Given the description of an element on the screen output the (x, y) to click on. 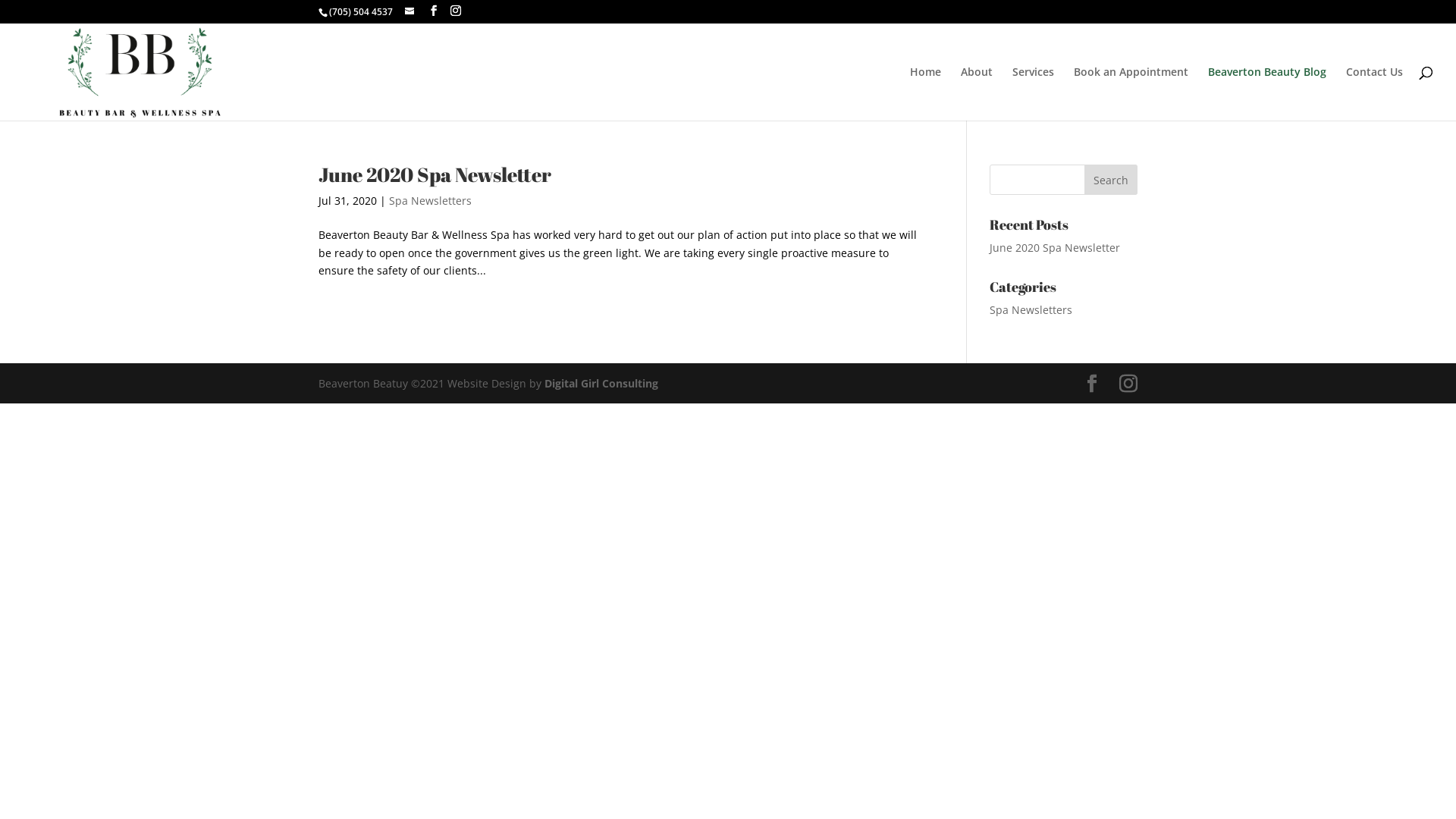
Digital Girl Consulting Element type: text (601, 383)
Search Element type: text (1110, 179)
Spa Newsletters Element type: text (1030, 309)
Beaverton Beauty Blog Element type: text (1267, 93)
Book an Appointment Element type: text (1130, 93)
(705) 504 4537 Element type: text (360, 11)
June 2020 Spa Newsletter Element type: text (434, 174)
About Element type: text (976, 93)
Home Element type: text (925, 93)
June 2020 Spa Newsletter Element type: text (1054, 247)
Services Element type: text (1033, 93)
Spa Newsletters Element type: text (430, 200)
Contact Us Element type: text (1374, 93)
